Given the description of an element on the screen output the (x, y) to click on. 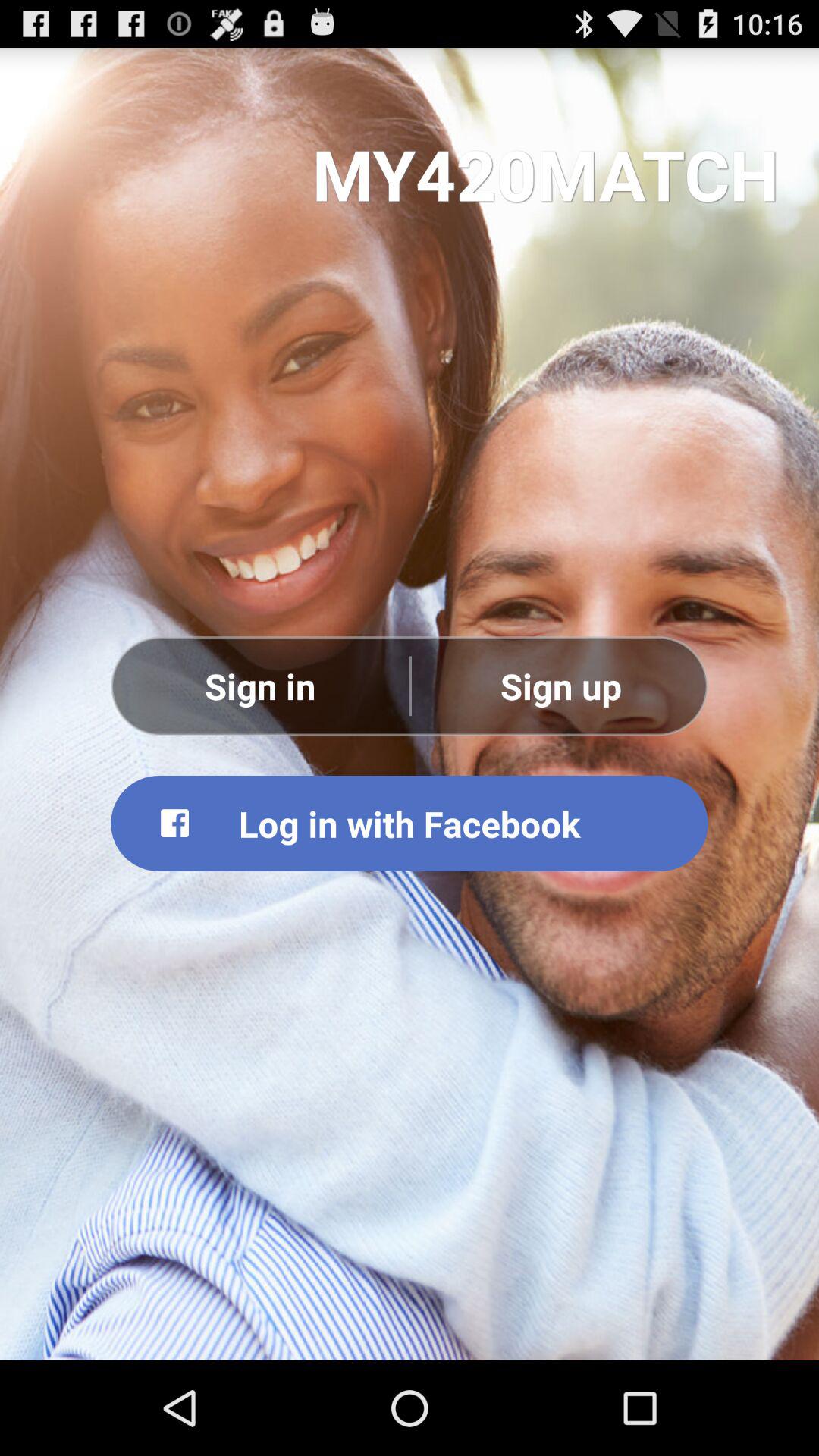
launch the item below my420match item (559, 685)
